Given the description of an element on the screen output the (x, y) to click on. 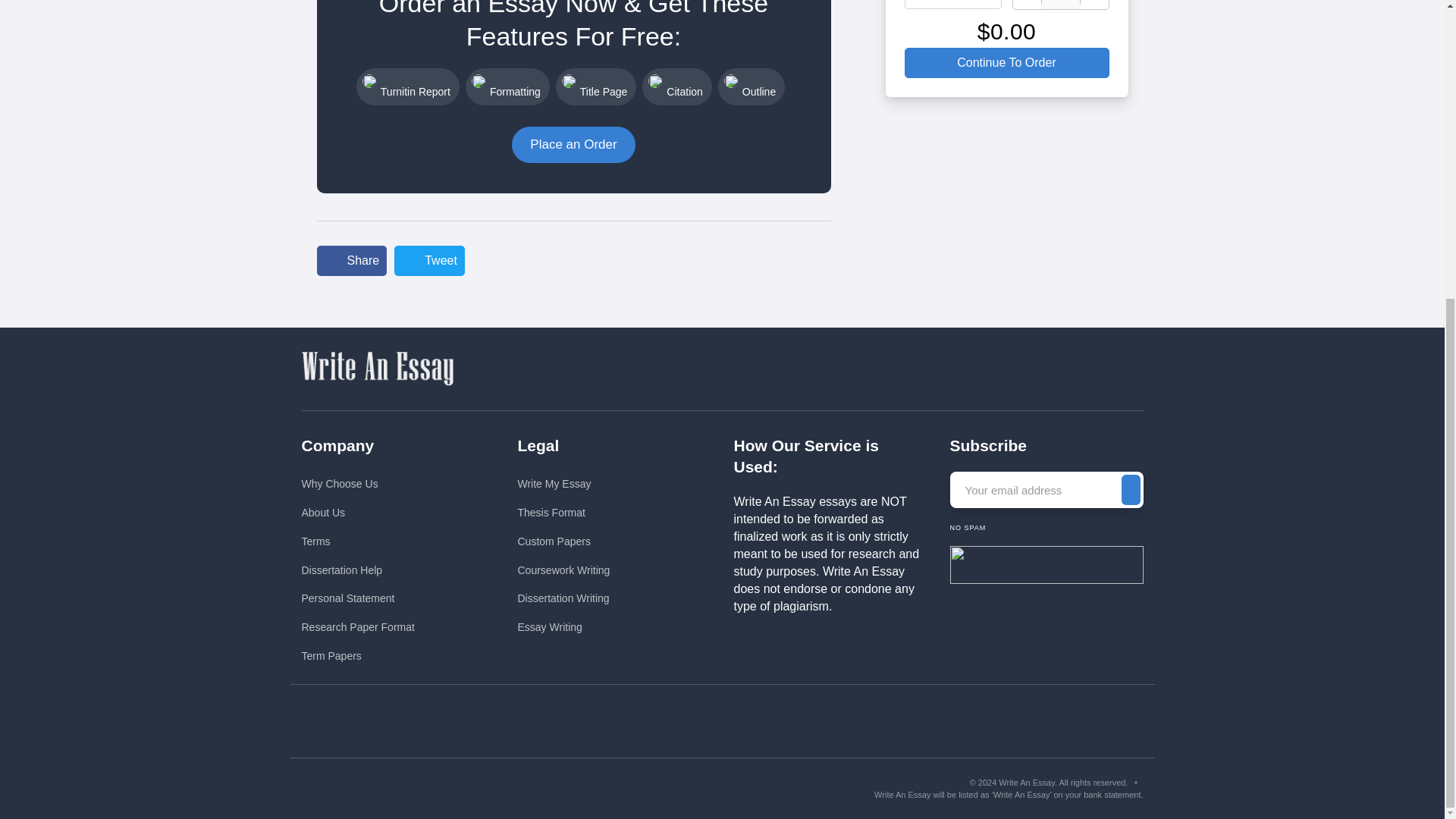
Terms (357, 541)
Dissertation Help (357, 569)
Place an Order (573, 144)
Term Papers (357, 656)
Coursework Writing (563, 569)
Continue to order (1006, 62)
Why Choose Us (357, 483)
Essay Writing (563, 627)
Share (352, 260)
Dissertation Writing (563, 598)
Tweet (429, 260)
Increase (1094, 4)
2 (1061, 4)
Thesis Format (563, 512)
About Us (357, 512)
